Given the description of an element on the screen output the (x, y) to click on. 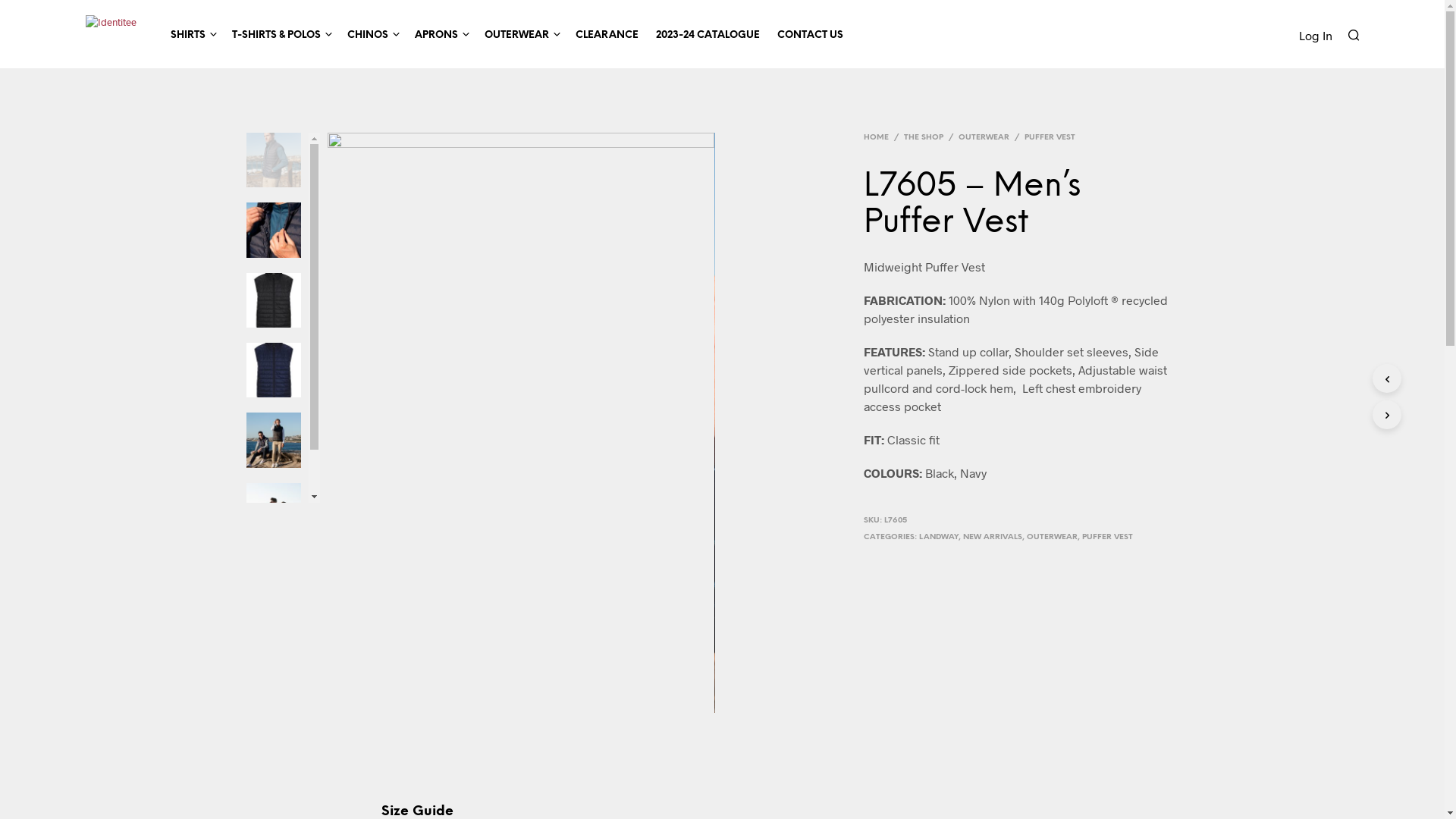
PUFFER VEST Element type: text (1049, 137)
OUTERWEAR Element type: text (983, 137)
CHINOS Element type: text (367, 34)
SHIRTS Element type: text (187, 34)
Apex + Puffer Element type: hover (520, 422)
OUTERWEAR Element type: text (1051, 537)
CONTACT US Element type: text (809, 34)
Apex Mens3 Element type: hover (907, 422)
PUFFER VEST Element type: text (1107, 537)
CLEARANCE Element type: text (606, 34)
THE SHOP Element type: text (923, 137)
T-SHIRTS & POLOS Element type: text (276, 34)
HOME Element type: text (878, 137)
Log In Element type: text (1314, 35)
LANDWAY Element type: text (938, 537)
2023-24 CATALOGUE Element type: text (706, 34)
OUTERWEAR Element type: text (515, 34)
APRONS Element type: text (435, 34)
NEW ARRIVALS Element type: text (992, 537)
